Given the description of an element on the screen output the (x, y) to click on. 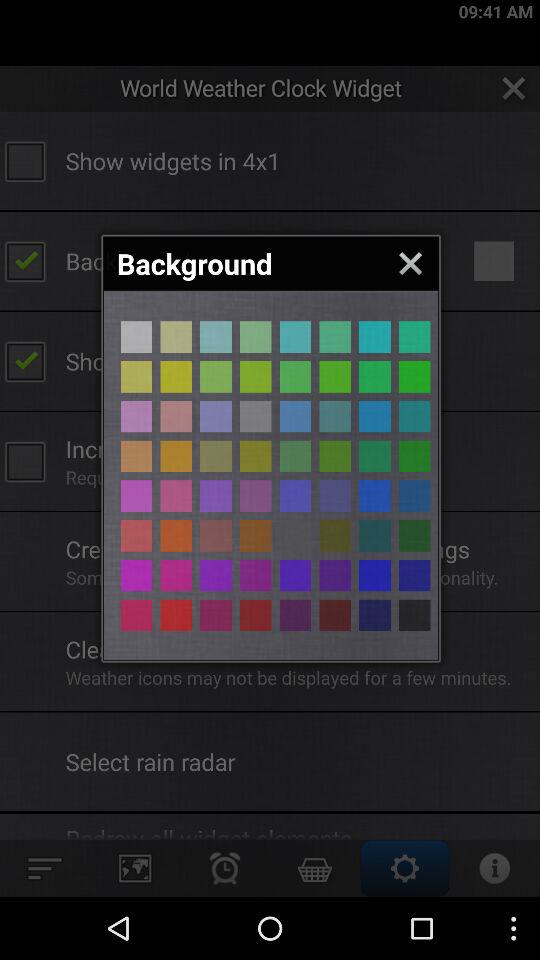
choose that color (136, 615)
